Given the description of an element on the screen output the (x, y) to click on. 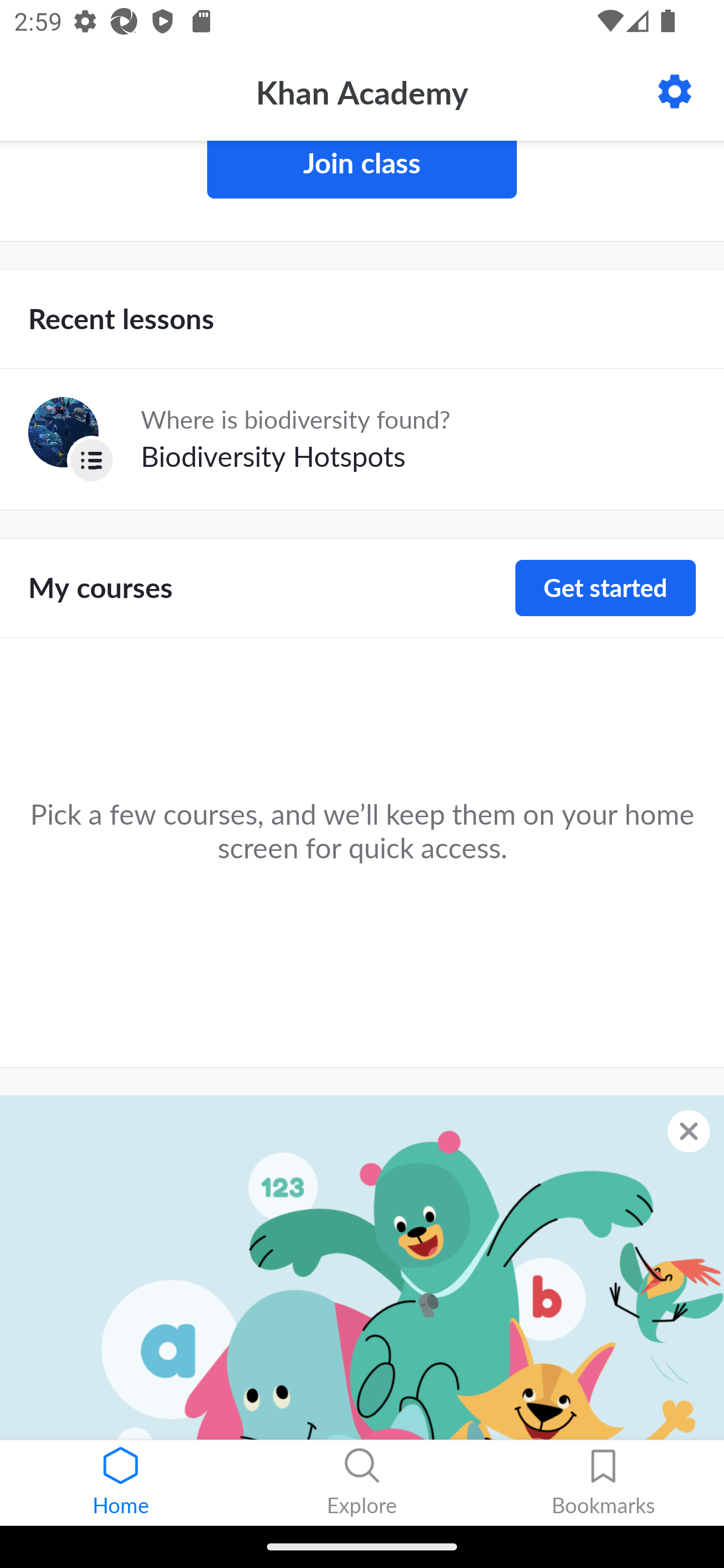
Settings (674, 91)
Join class (361, 170)
Get started (605, 587)
Dismiss (688, 1131)
Home (120, 1482)
Explore (361, 1482)
Bookmarks (603, 1482)
